Given the description of an element on the screen output the (x, y) to click on. 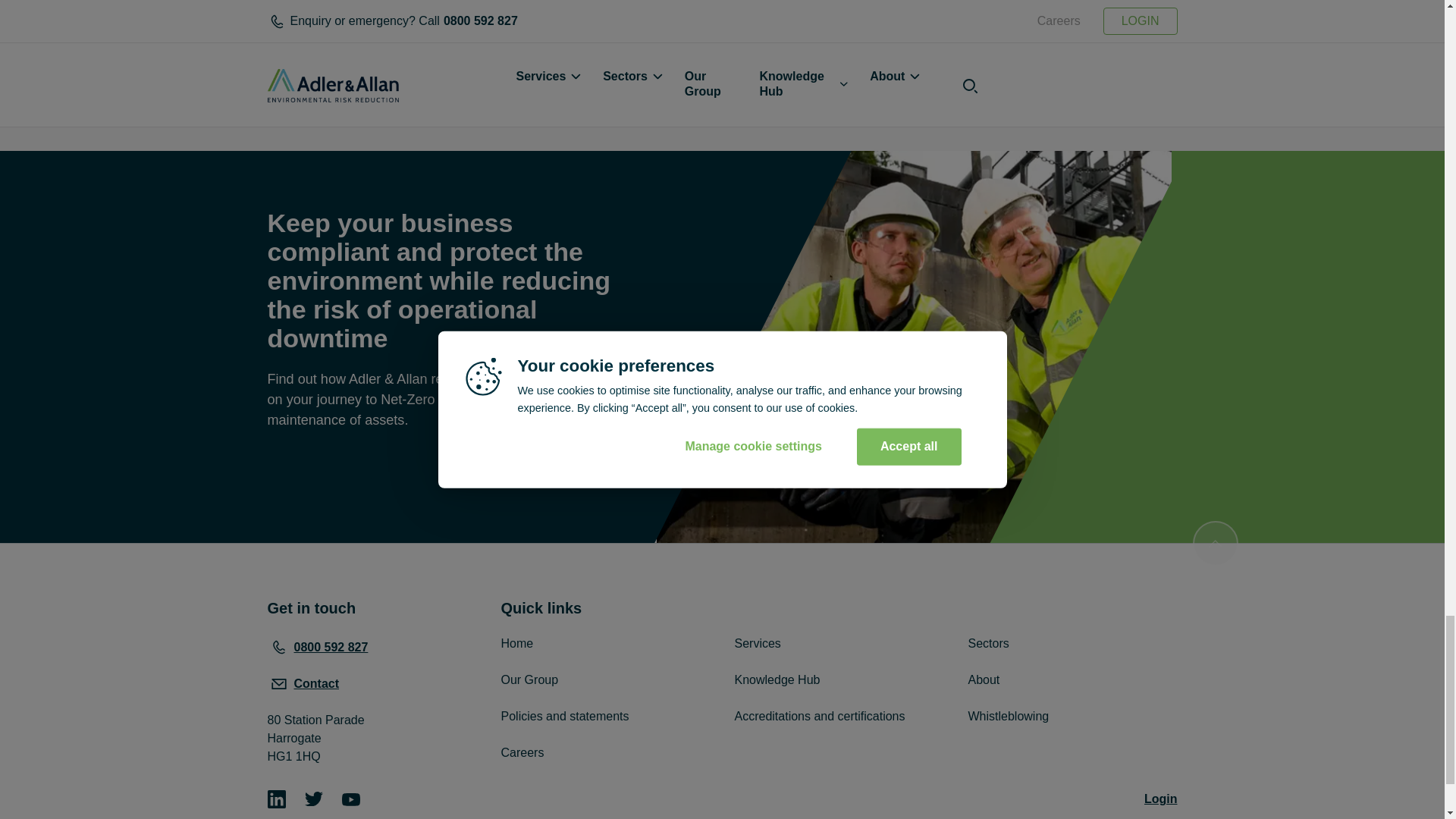
LinkedIn (275, 800)
YouTube (349, 800)
Twitter (313, 799)
